Given the description of an element on the screen output the (x, y) to click on. 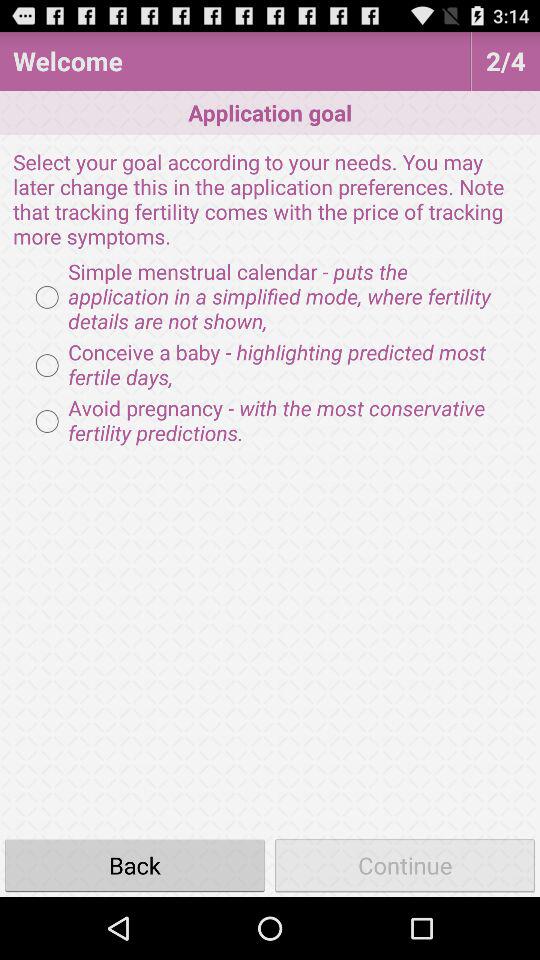
launch the icon below select your goal icon (269, 297)
